Given the description of an element on the screen output the (x, y) to click on. 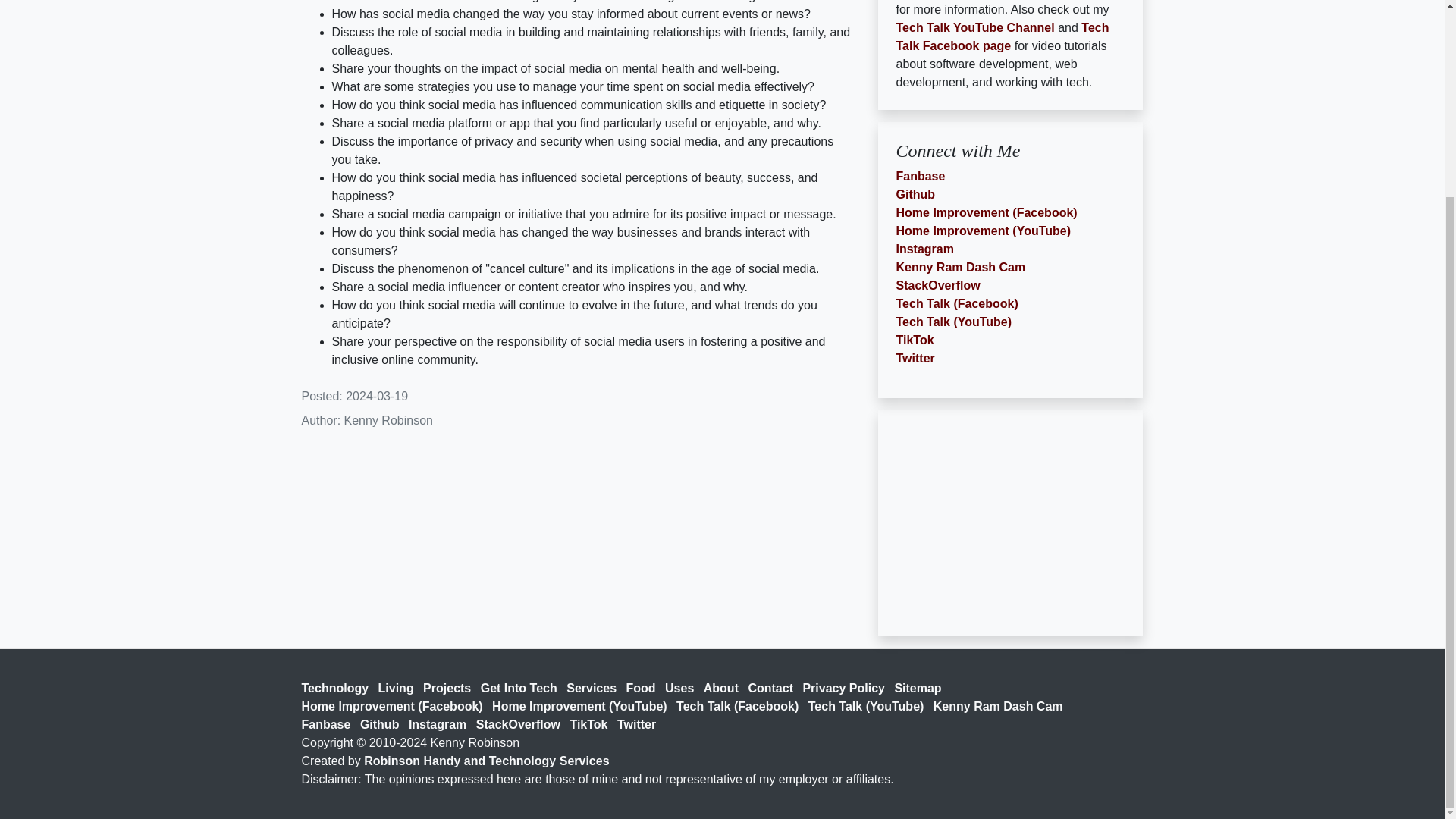
Privacy Policy (846, 687)
Uses (682, 687)
Tech Talk YouTube Channel (975, 27)
About (723, 687)
StackOverflow (937, 285)
Twitter (915, 358)
Projects (450, 687)
Technology (338, 687)
Fanbase (328, 724)
Instagram (440, 724)
Github (382, 724)
Food (644, 687)
Tech Talk Facebook page (1002, 36)
Instagram (924, 248)
Kenny Ram Dash Cam (1000, 706)
